Given the description of an element on the screen output the (x, y) to click on. 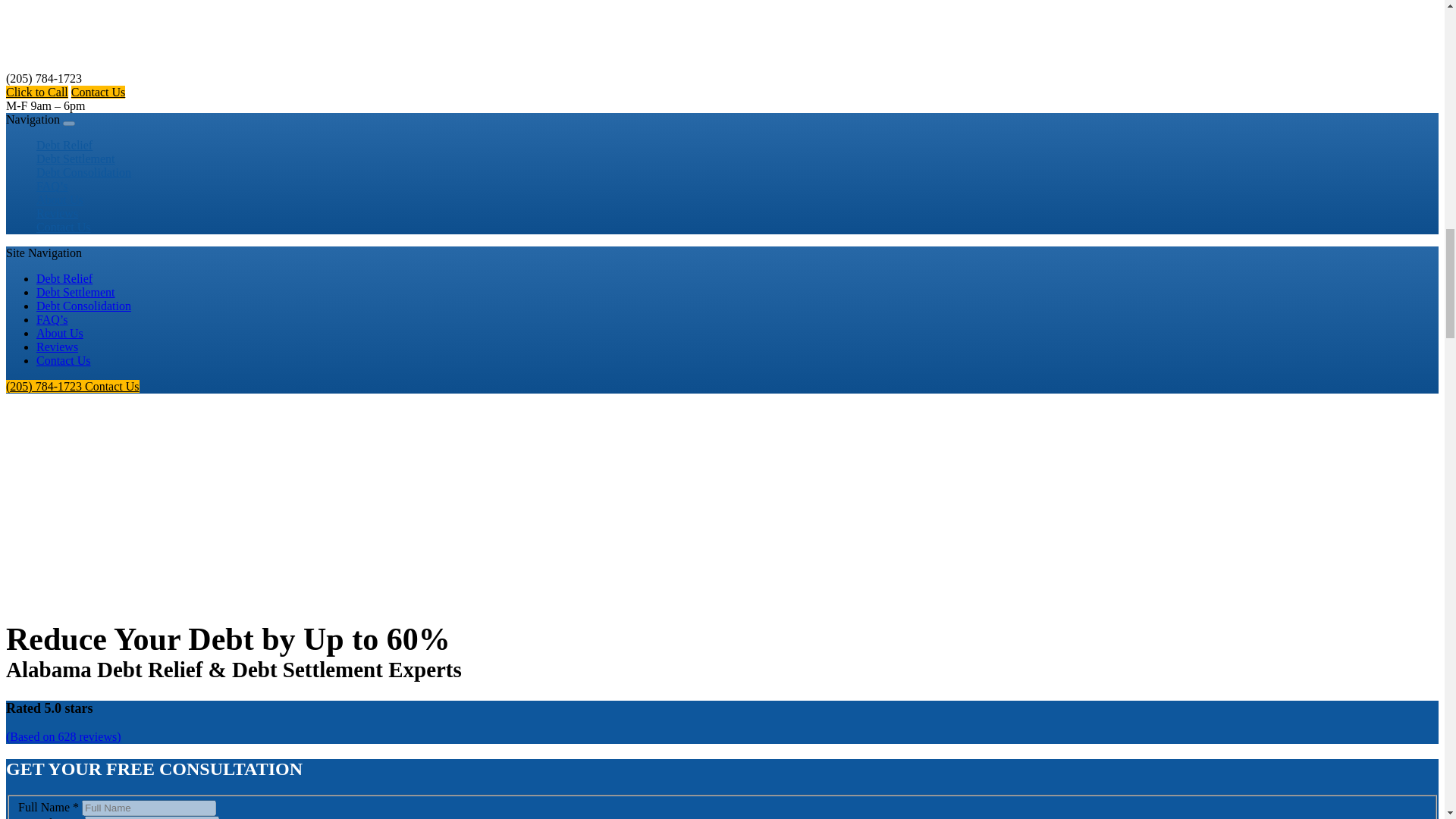
Contact Us (63, 359)
Debt Consolidation (83, 172)
Debt Settlement (75, 159)
Contact Us (111, 386)
About Us (59, 332)
Debt Relief (64, 145)
Debt Settlement (75, 159)
Contact Us (63, 227)
Reviews (57, 213)
Reviews (57, 213)
FAQ's (52, 318)
Debt Settlement (75, 291)
Contact Us (98, 91)
FAQ's (52, 186)
Contact Us (63, 359)
